Given the description of an element on the screen output the (x, y) to click on. 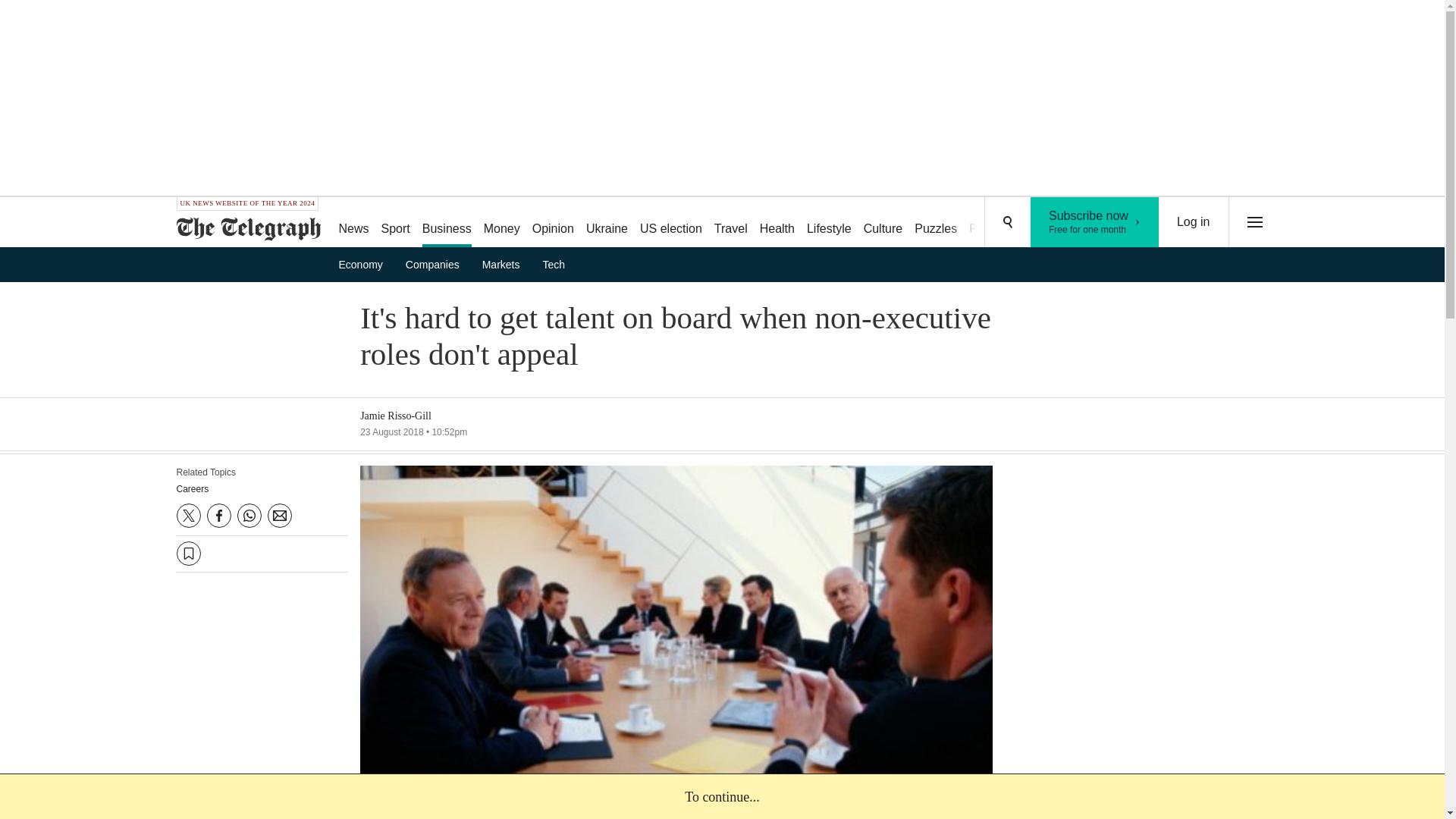
Lifestyle (828, 223)
Podcasts (993, 223)
Economy (364, 264)
Money (501, 223)
Ukraine (606, 223)
US election (670, 223)
Puzzles (935, 223)
Health (777, 223)
Culture (882, 223)
Companies (437, 264)
